Given the description of an element on the screen output the (x, y) to click on. 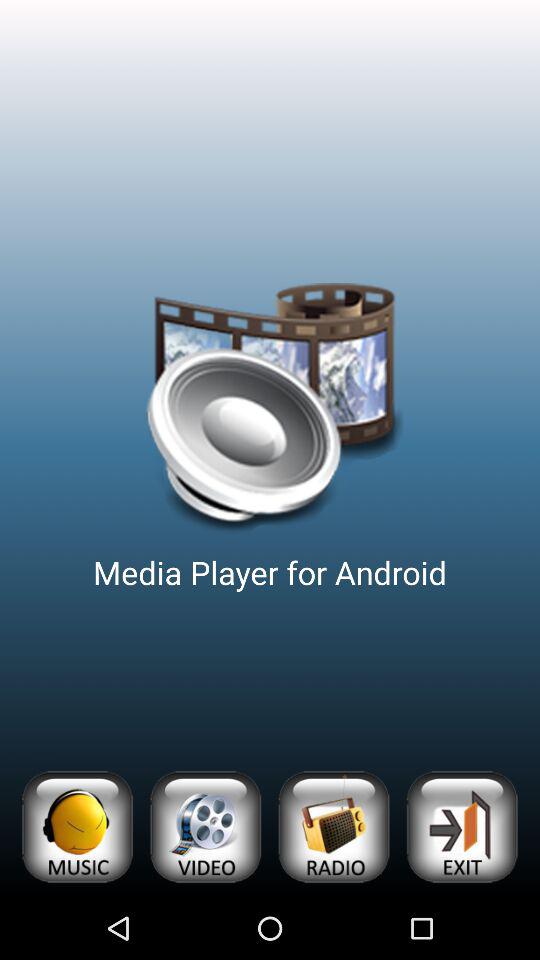
open app below media player for (461, 826)
